Given the description of an element on the screen output the (x, y) to click on. 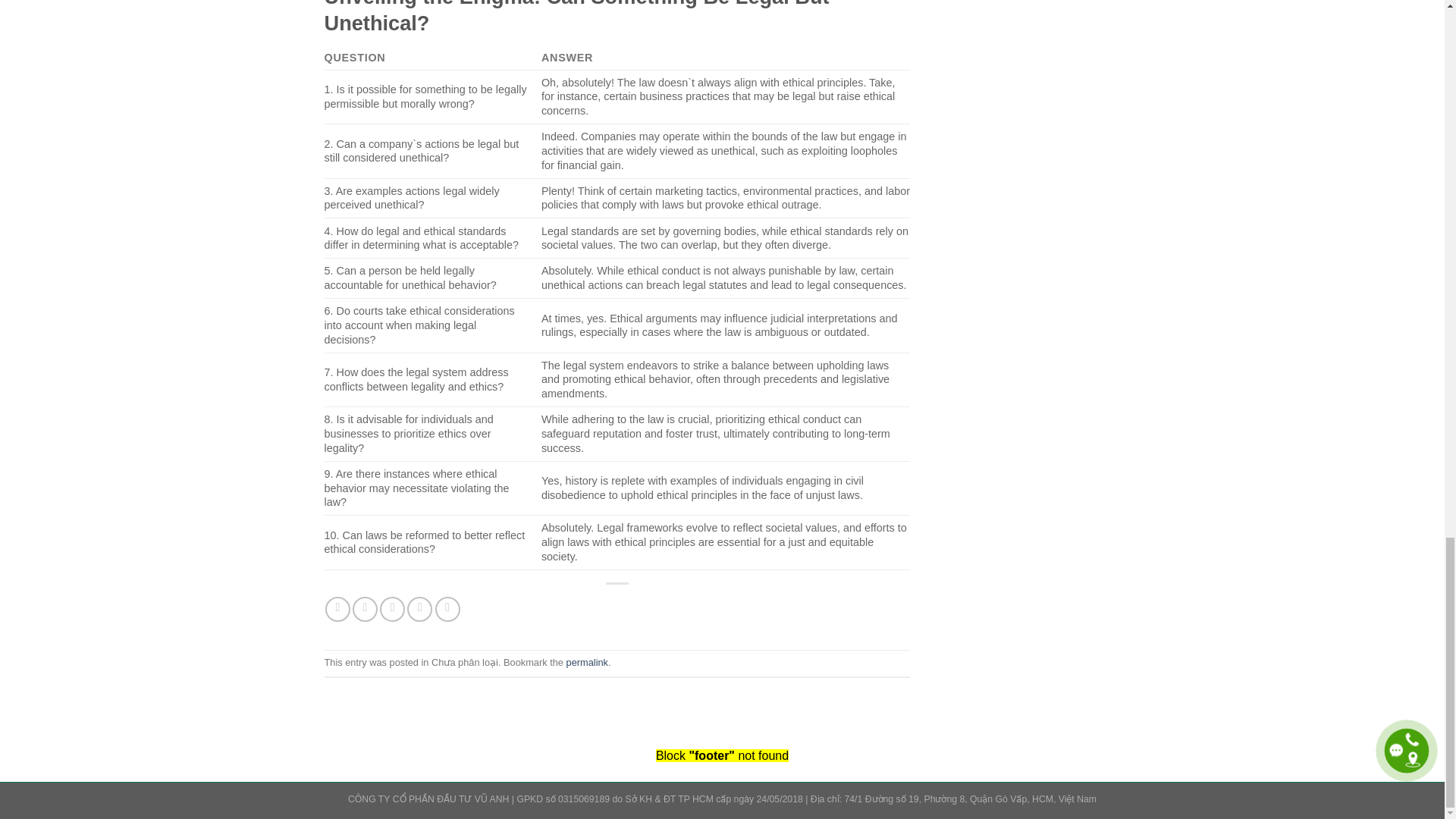
permalink (587, 662)
Share on Twitter (364, 609)
Share on LinkedIn (447, 609)
Pin on Pinterest (419, 609)
Email to a Friend (392, 609)
Share on Facebook (337, 609)
